Given the description of an element on the screen output the (x, y) to click on. 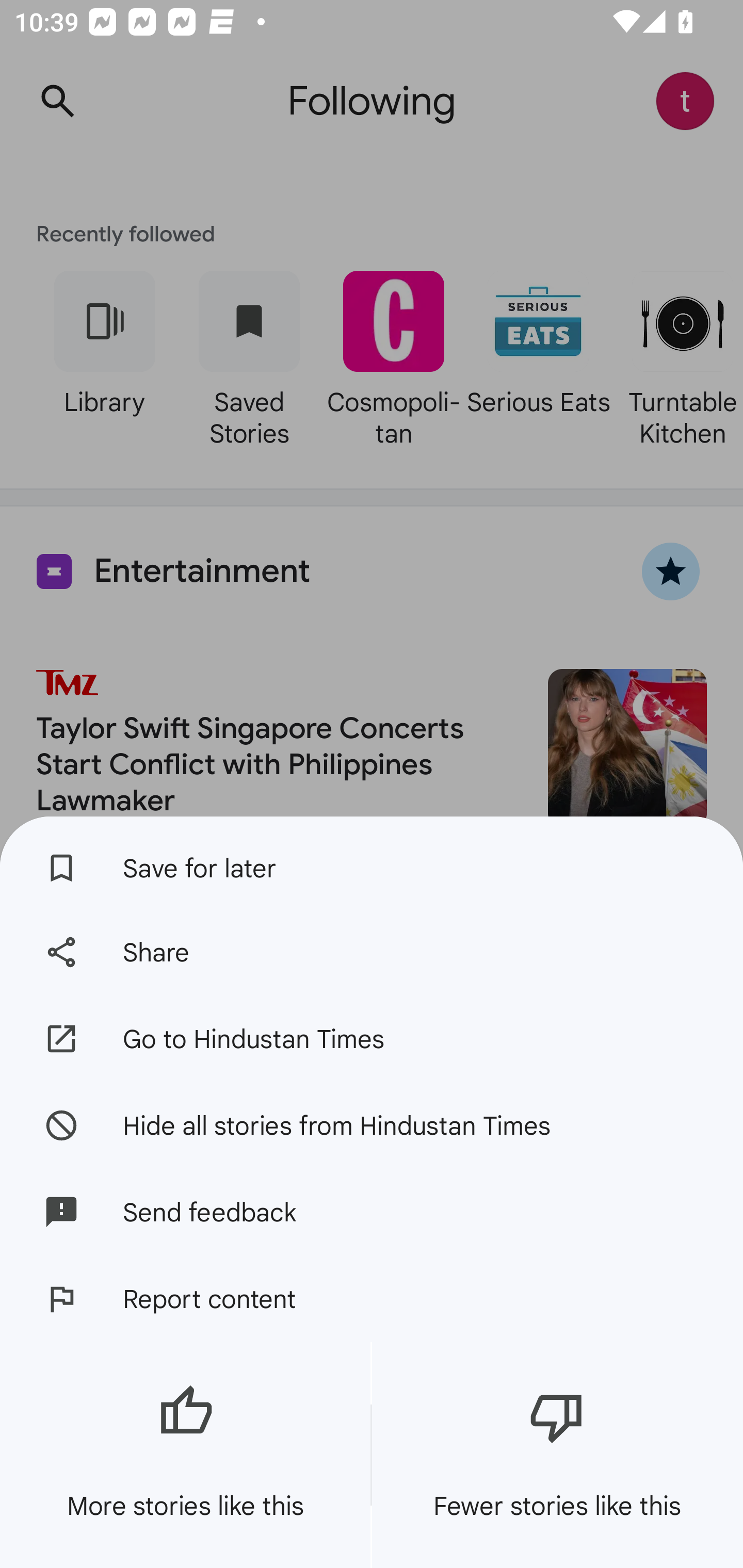
Save for later (371, 862)
Share (371, 952)
Go to Hindustan Times (371, 1038)
Hide all stories from Hindustan Times (371, 1124)
Send feedback (371, 1211)
Report content (371, 1298)
More stories like this (185, 1455)
Fewer stories like this (557, 1455)
